Given the description of an element on the screen output the (x, y) to click on. 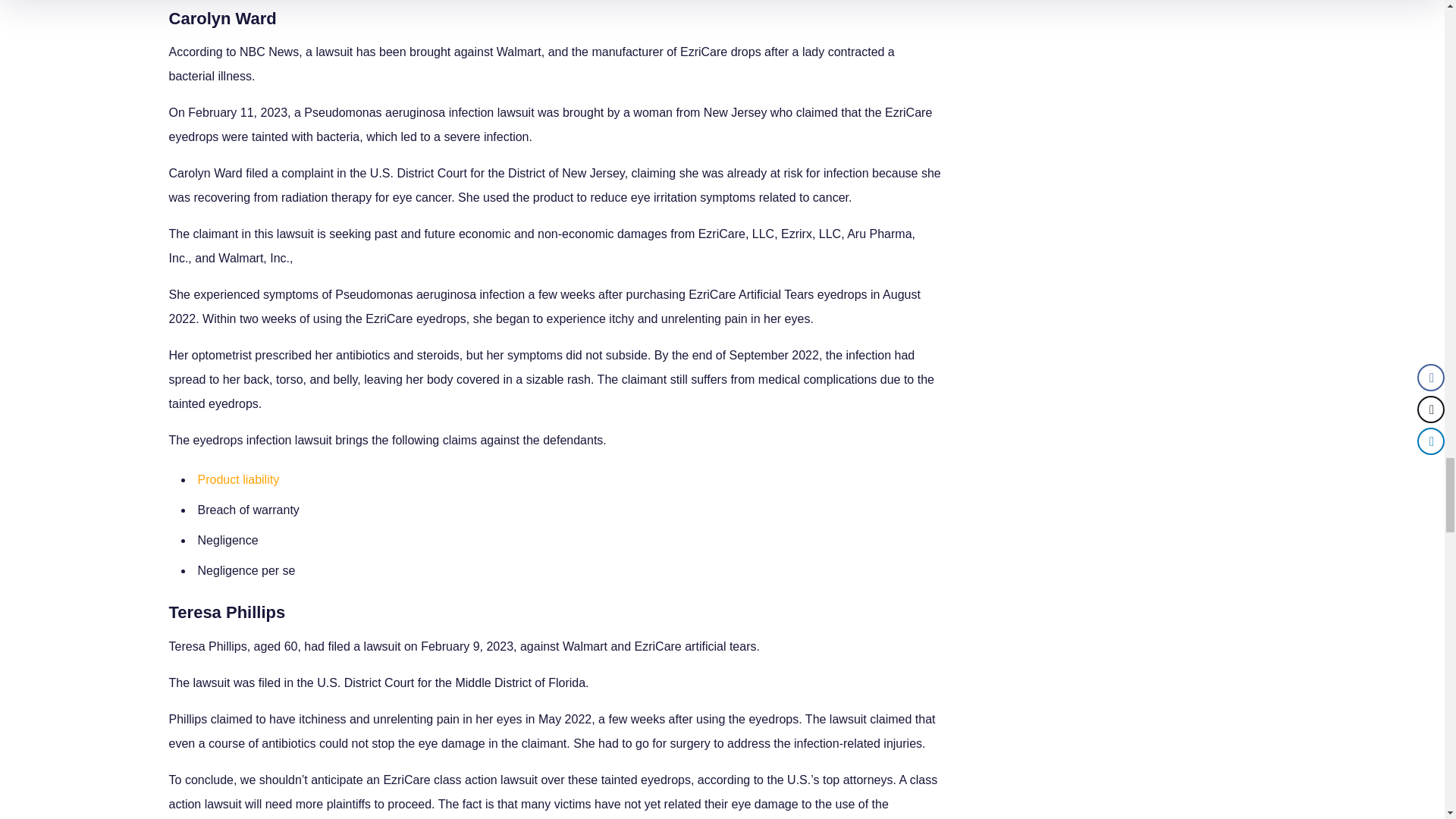
Product liability (238, 479)
